Given the description of an element on the screen output the (x, y) to click on. 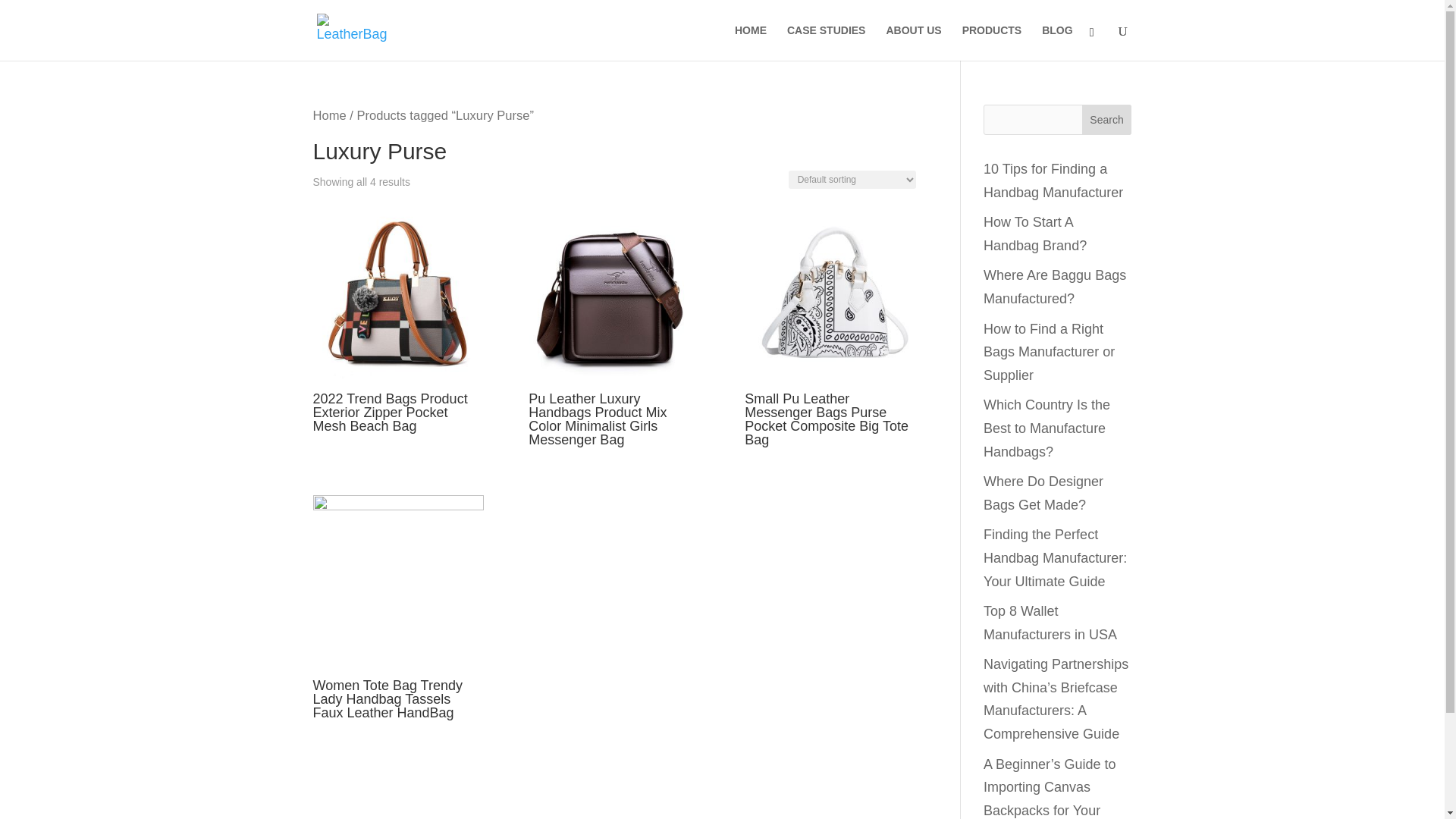
PRODUCTS (992, 42)
How To Start A Handbag Brand? (1035, 233)
Search (1106, 119)
Which Country Is the Best to Manufacture Handbags? (1046, 427)
Where Do Designer Bags Get Made? (1043, 493)
Home (329, 115)
Where Are Baggu Bags Manufactured? (1054, 286)
Top 8 Wallet Manufacturers in USA (1050, 622)
10 Tips for Finding a Handbag Manufacturer (1053, 180)
